Given the description of an element on the screen output the (x, y) to click on. 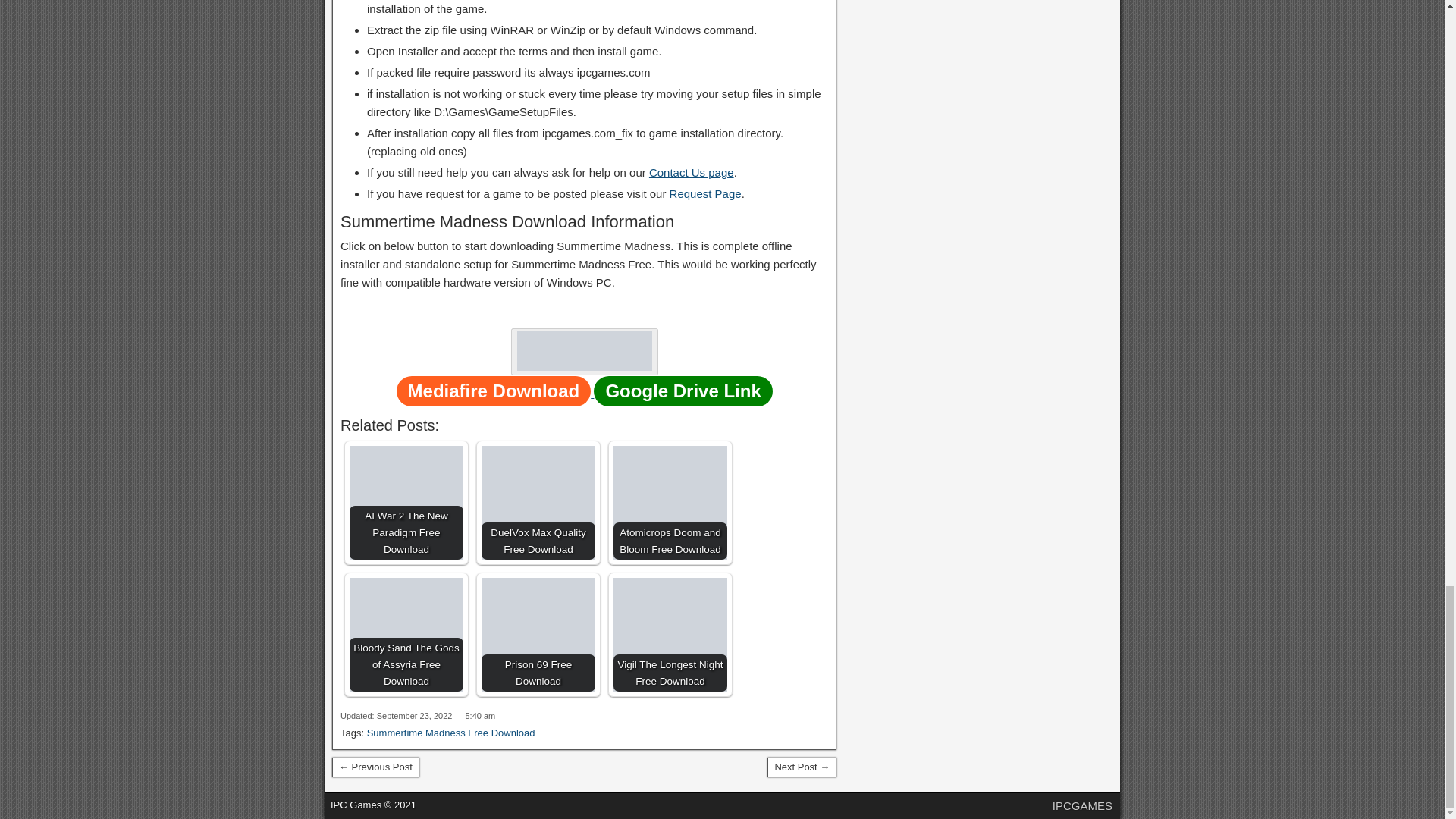
DuelVox Max Quality Free Download (538, 502)
AI War 2 The New Paradigm Free Download (406, 502)
Bloody Sand The Gods of Assyria Free Download (406, 634)
Vigil The Longest Night Free Download (669, 634)
Cat Packs Free Download (375, 767)
Atomicrops Doom and Bloom Free Download (669, 502)
Dead Hospital Free Download (801, 767)
Prison 69 Free Download (538, 634)
